Given the description of an element on the screen output the (x, y) to click on. 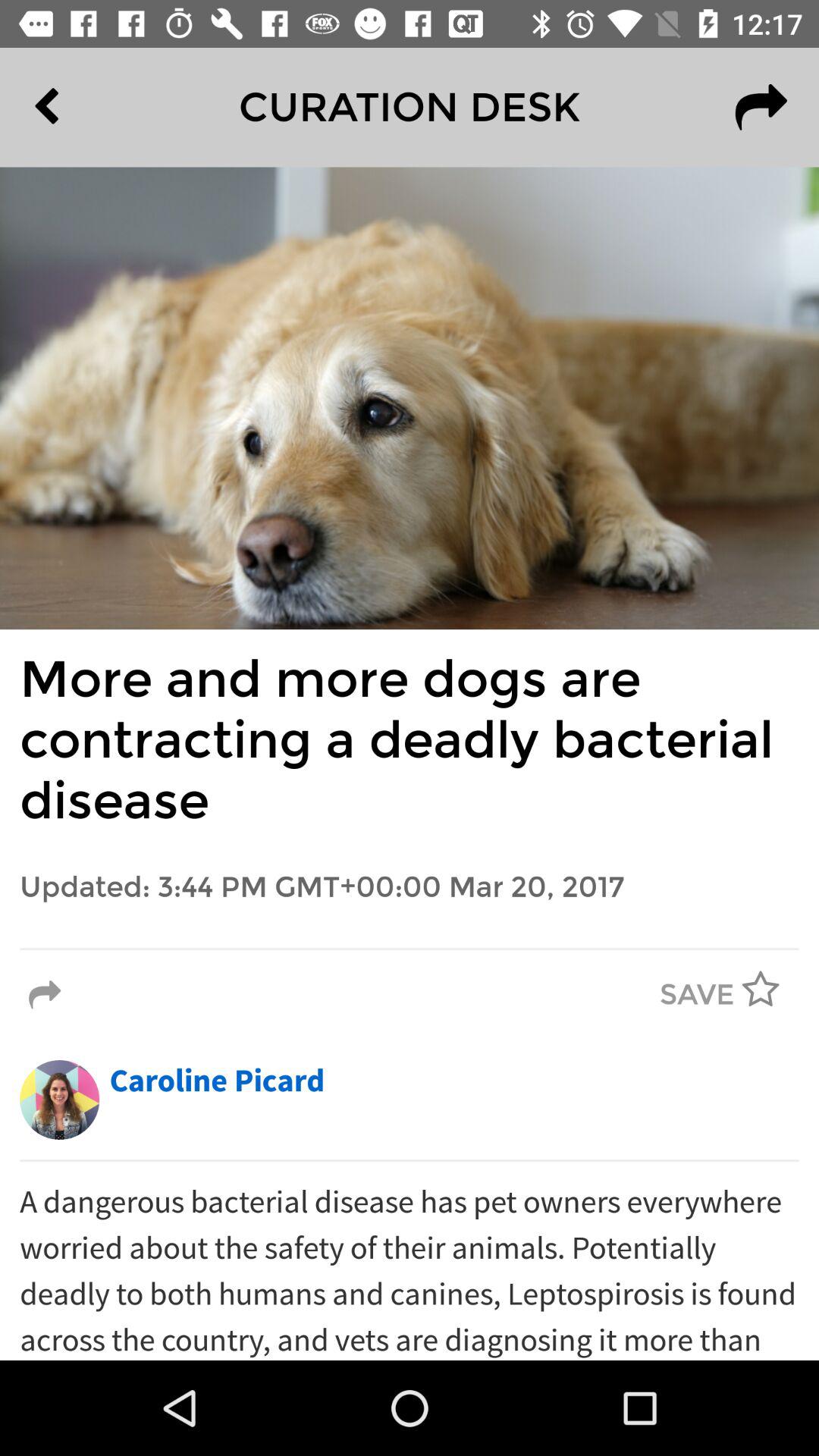
swipe to updated 3 44 item (409, 887)
